Given the description of an element on the screen output the (x, y) to click on. 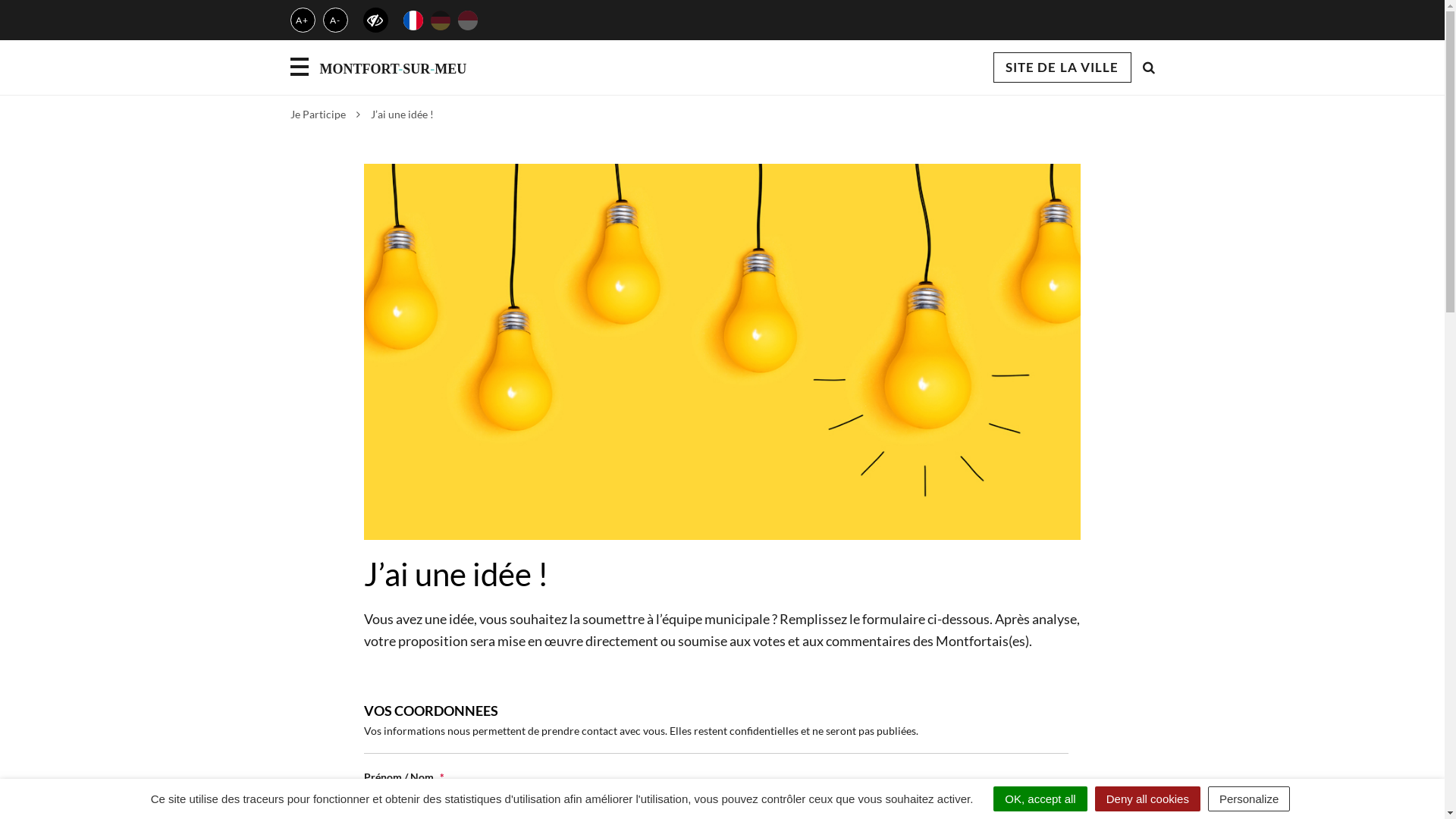
MONTFORT-SUR-MEU Element type: text (392, 67)
Deny all cookies Element type: text (1147, 798)
A- Element type: text (335, 19)
Polish Element type: hover (467, 20)
MENU Element type: text (298, 66)
OK, accept all Element type: text (1039, 798)
Rechercher Element type: text (1148, 67)
Personalize Element type: text (1248, 798)
SITE DE LA VILLE Element type: text (1062, 67)
French Element type: hover (413, 20)
German Element type: hover (440, 20)
Je Participe Element type: text (317, 113)
A+ Element type: text (301, 19)
